Given the description of an element on the screen output the (x, y) to click on. 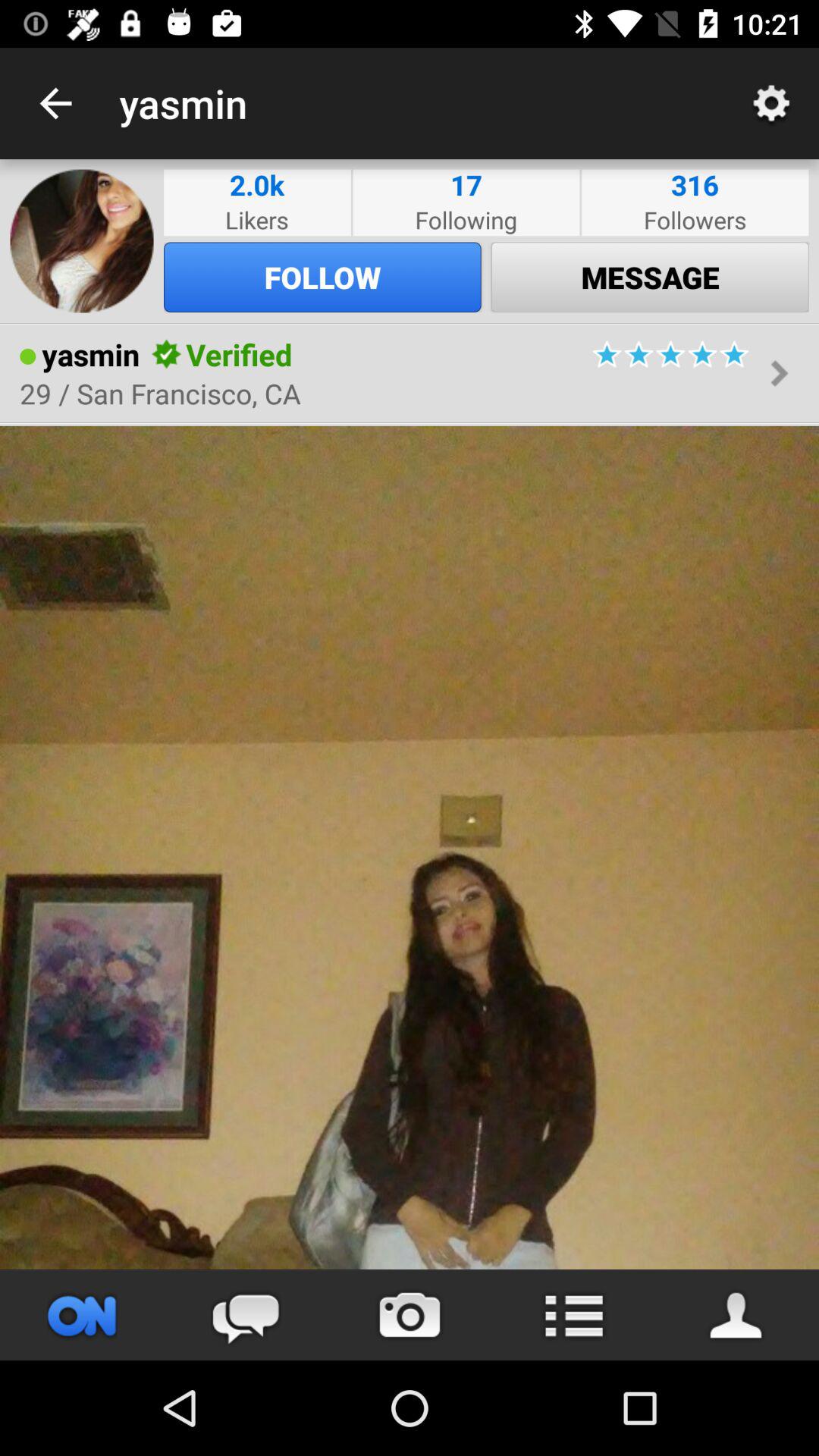
launch item above 29 san francisco icon (166, 354)
